Given the description of an element on the screen output the (x, y) to click on. 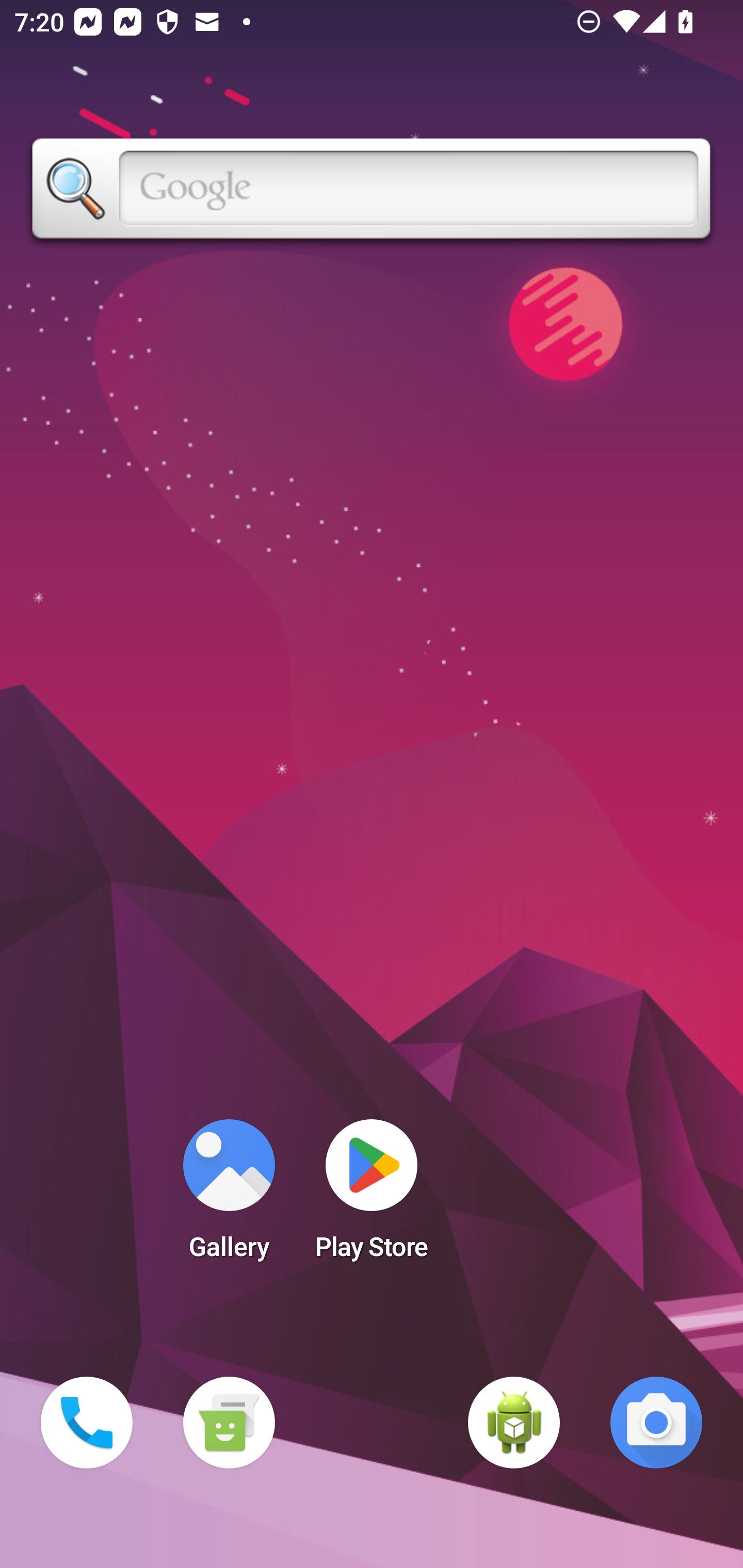
Gallery (228, 1195)
Play Store (371, 1195)
Phone (86, 1422)
Messaging (228, 1422)
WebView Browser Tester (513, 1422)
Camera (656, 1422)
